Given the description of an element on the screen output the (x, y) to click on. 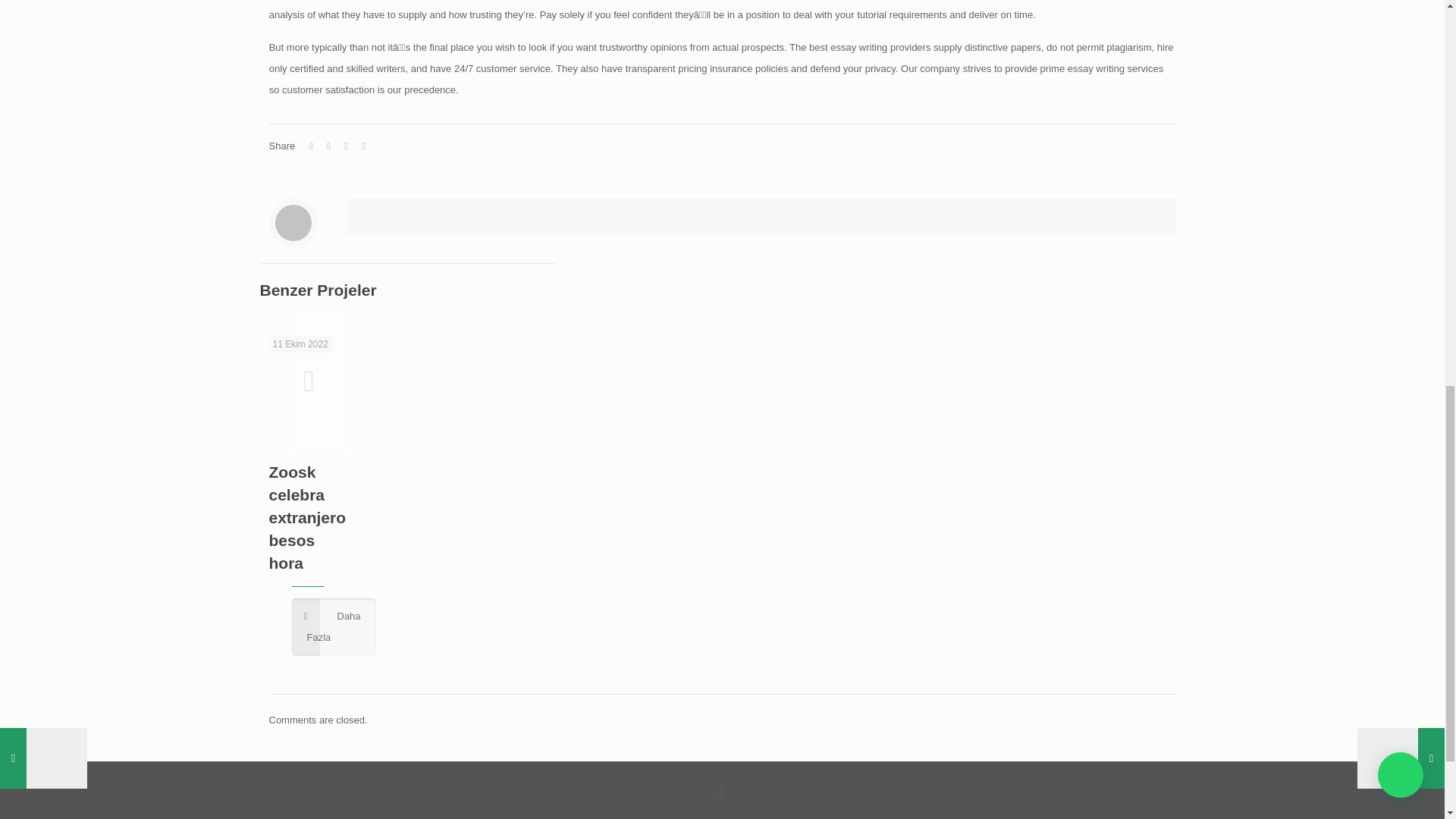
Daha Fazla (333, 627)
